Given the description of an element on the screen output the (x, y) to click on. 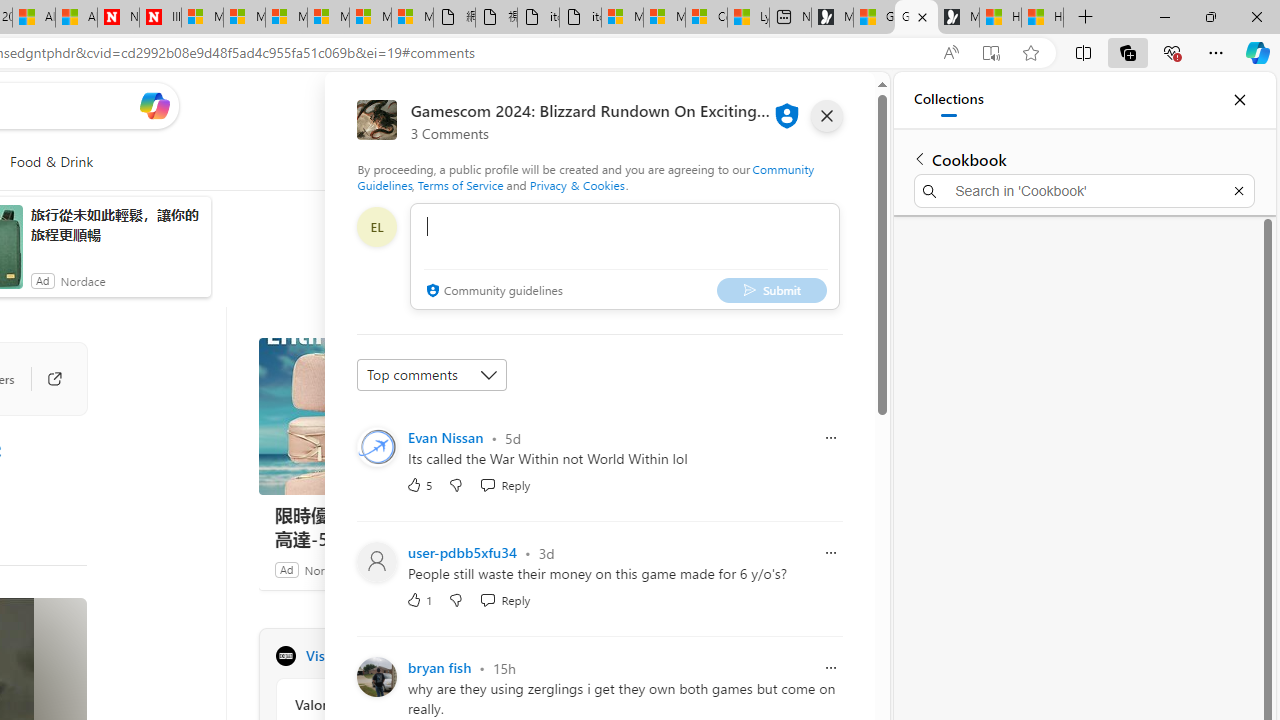
Exit search (1238, 190)
user-pdbb5xfu34 (463, 552)
5 Like (419, 484)
Community Guidelines (586, 176)
Illness news & latest pictures from Newsweek.com (159, 17)
Newsweek - News, Analysis, Politics, Business, Technology (118, 17)
Consumer Health Data Privacy Policy (706, 17)
